Given the description of an element on the screen output the (x, y) to click on. 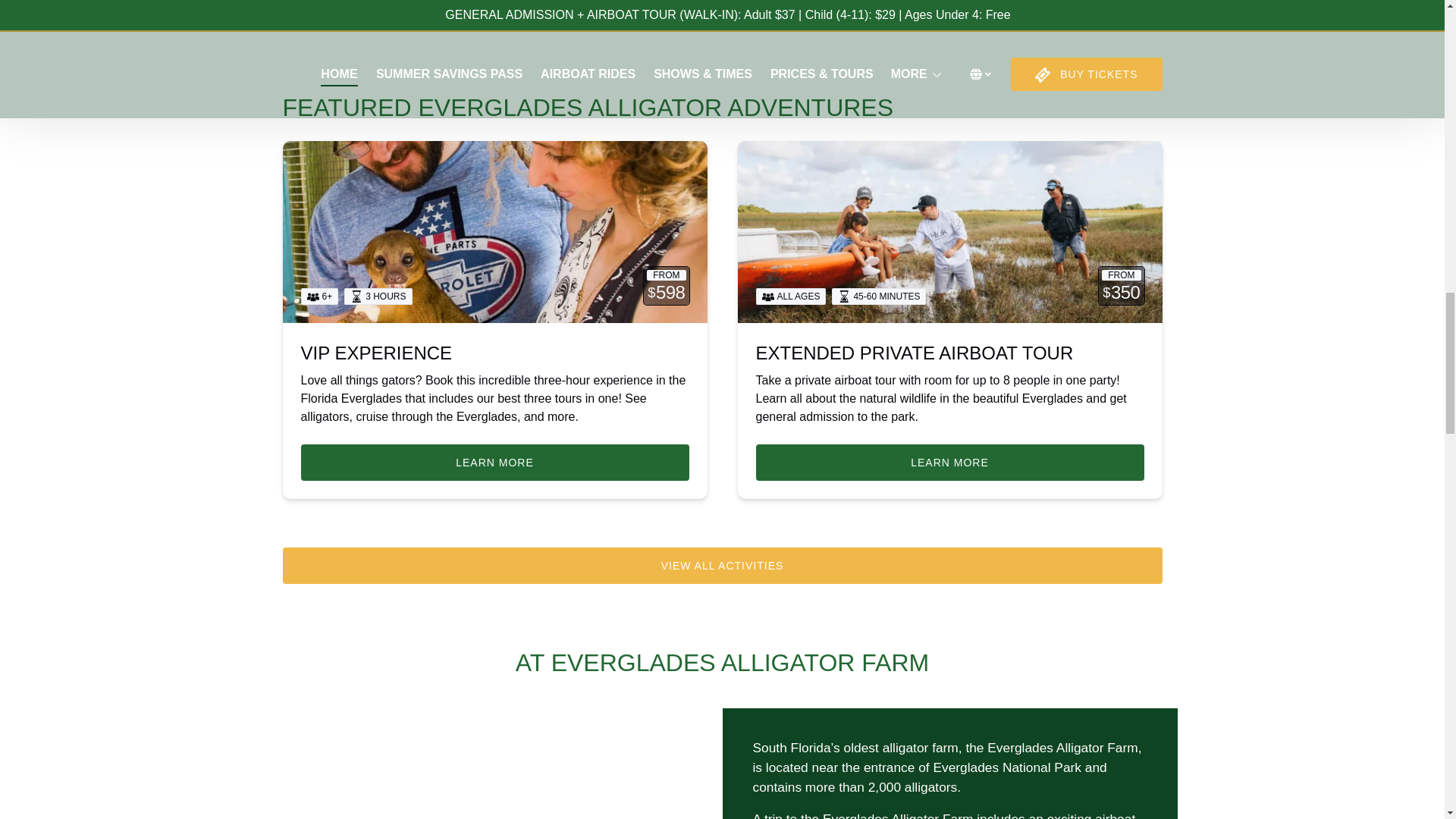
activity link (494, 231)
EXTENDED PRIVATE AIRBOAT TOUR (914, 353)
A Small Bite of Everglades Alligator Farm (494, 763)
LEARN MORE (948, 462)
VIEW ALL ACTIVITIES (721, 565)
VIP EXPERIENCE (375, 353)
activity link (948, 231)
LEARN MORE (493, 462)
